Given the description of an element on the screen output the (x, y) to click on. 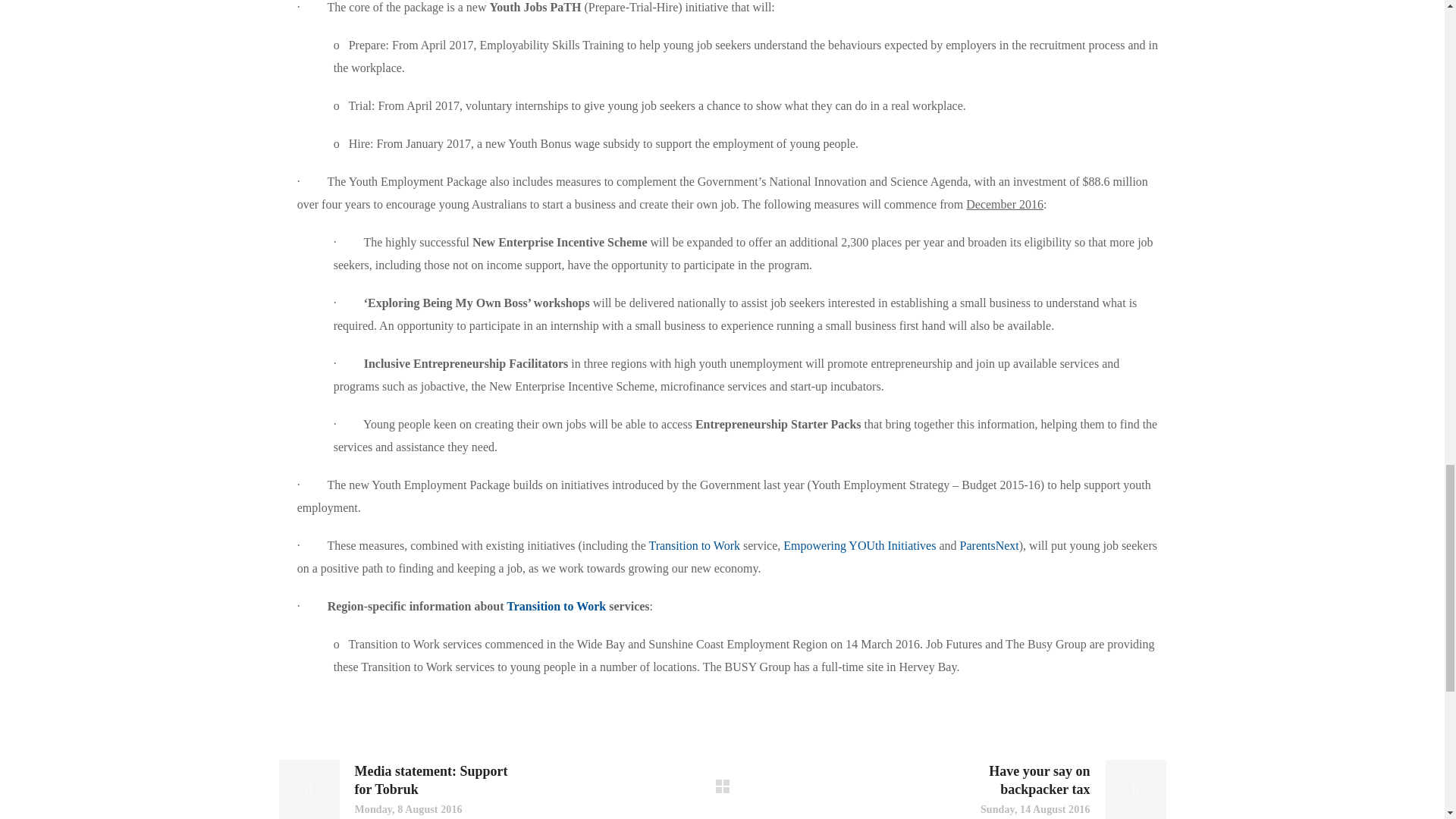
Media statement: Support for Tobruk (396, 789)
Have your say on backpacker tax (1048, 789)
